Given the description of an element on the screen output the (x, y) to click on. 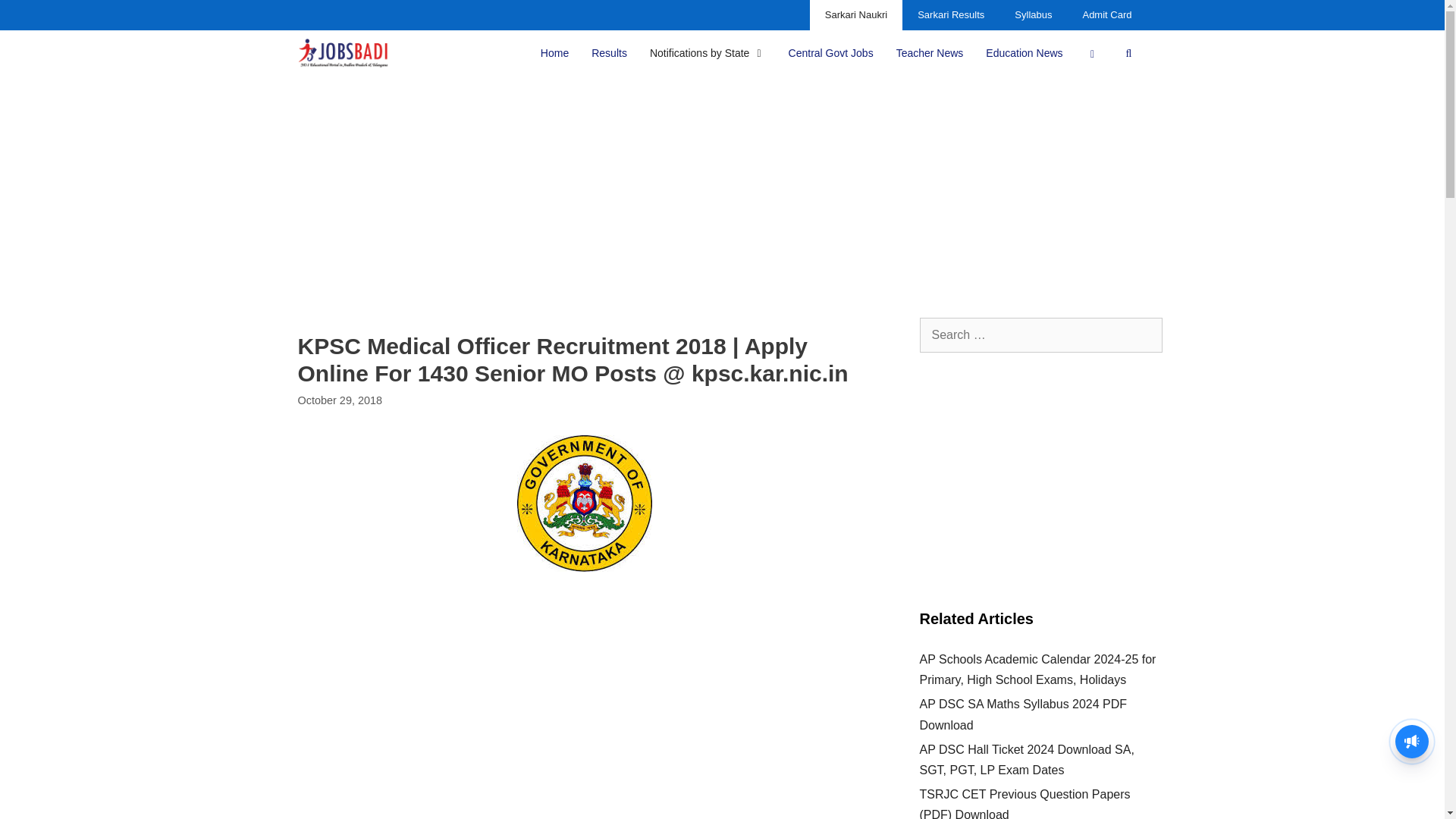
Central Govt Jobs, Public limited difence Railway IBPS Jobs (831, 53)
Search for: (1039, 334)
Teachersbadi Teachernews AP Teachers and TSTeachers (930, 53)
Results (609, 53)
Notifications by State (708, 53)
Syllabus (1032, 15)
Home (554, 53)
Advertisement (583, 703)
Admit Card (1107, 15)
Sarkari Naukri (855, 15)
Sarkari Results (950, 15)
Jobsbadi (346, 53)
Jobsbadi (342, 53)
